Given the description of an element on the screen output the (x, y) to click on. 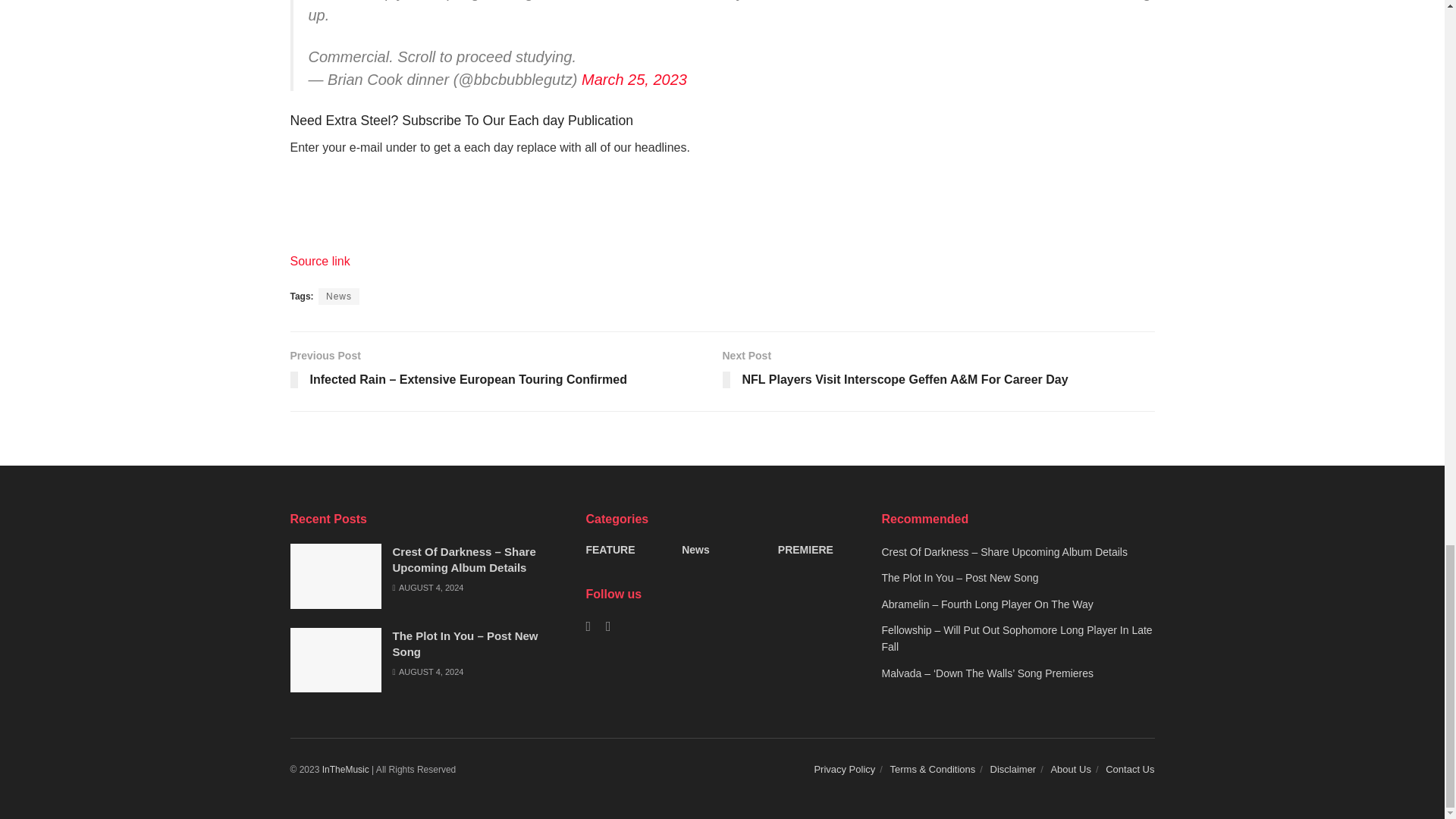
March 25, 2023 (633, 79)
Source link (319, 260)
News (338, 296)
Premium news  (345, 769)
